Given the description of an element on the screen output the (x, y) to click on. 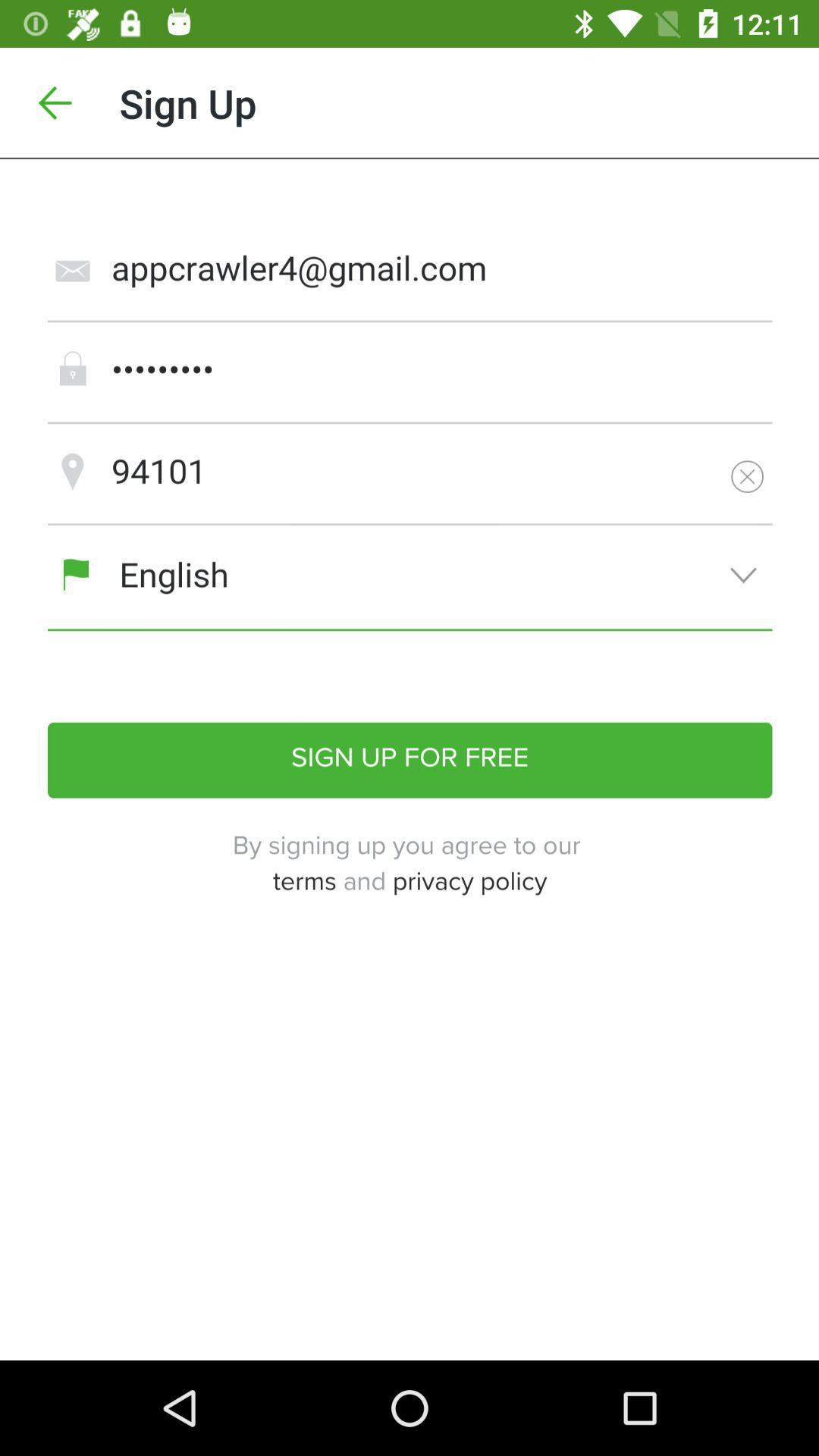
display screen (409, 759)
